Given the description of an element on the screen output the (x, y) to click on. 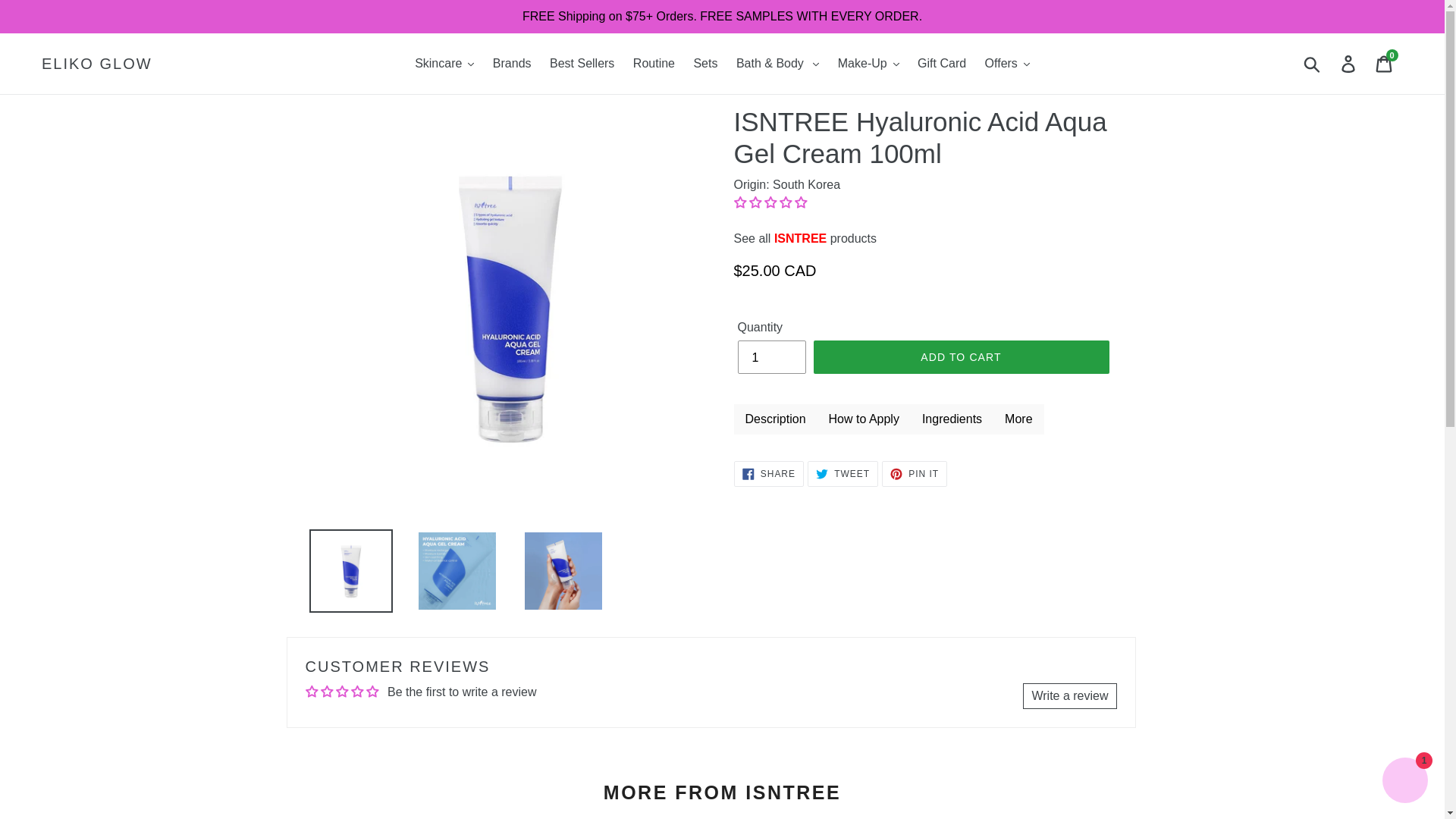
Shopify online store chat (1404, 781)
See all ISNTREE products (805, 237)
ELIKO GLOW (97, 63)
1 (770, 356)
